Given the description of an element on the screen output the (x, y) to click on. 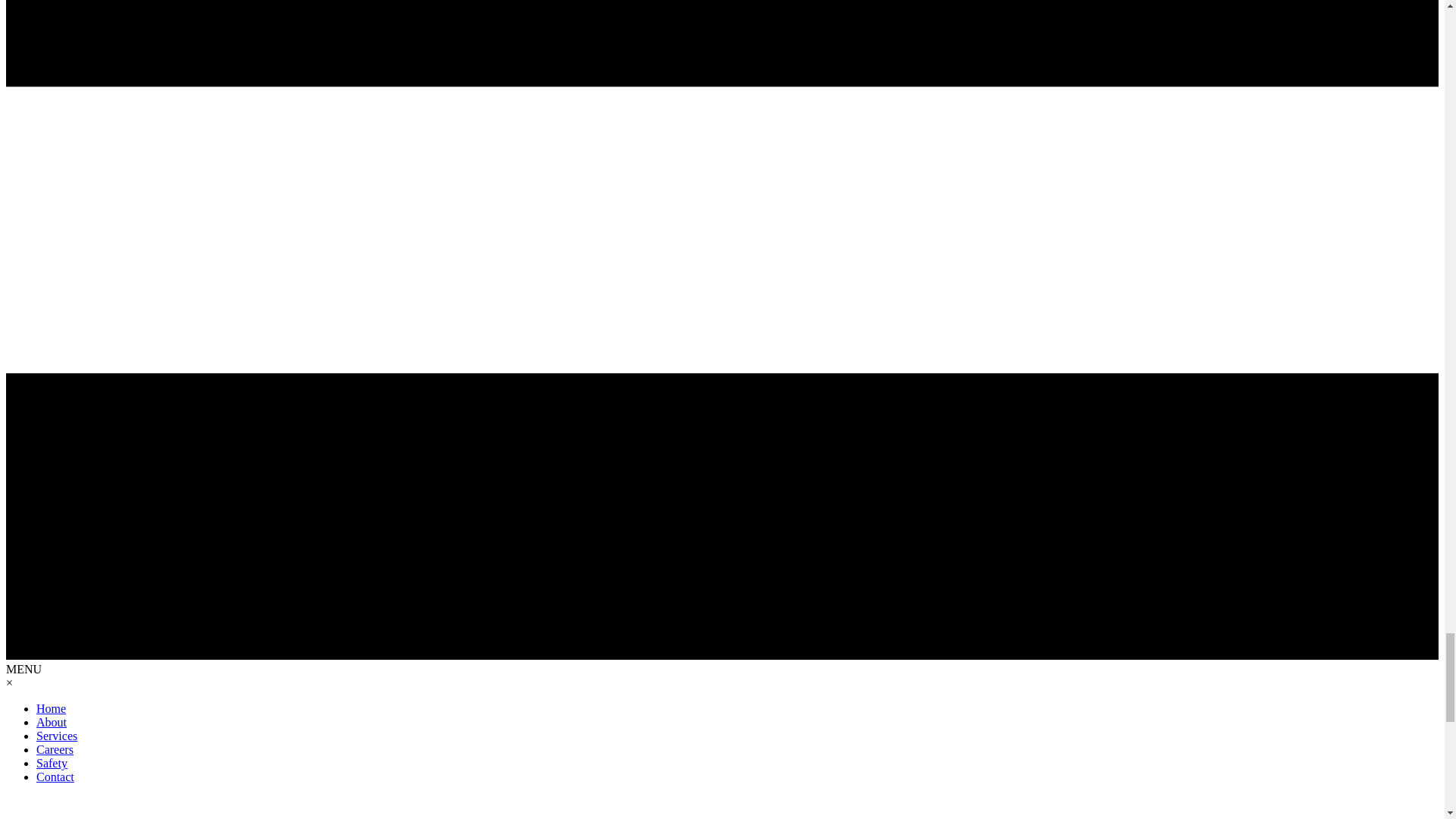
Contact (55, 776)
Careers (55, 748)
Home (50, 707)
iCIMS Content iFrame (722, 807)
Safety (51, 762)
Services (56, 735)
About (51, 721)
